Given the description of an element on the screen output the (x, y) to click on. 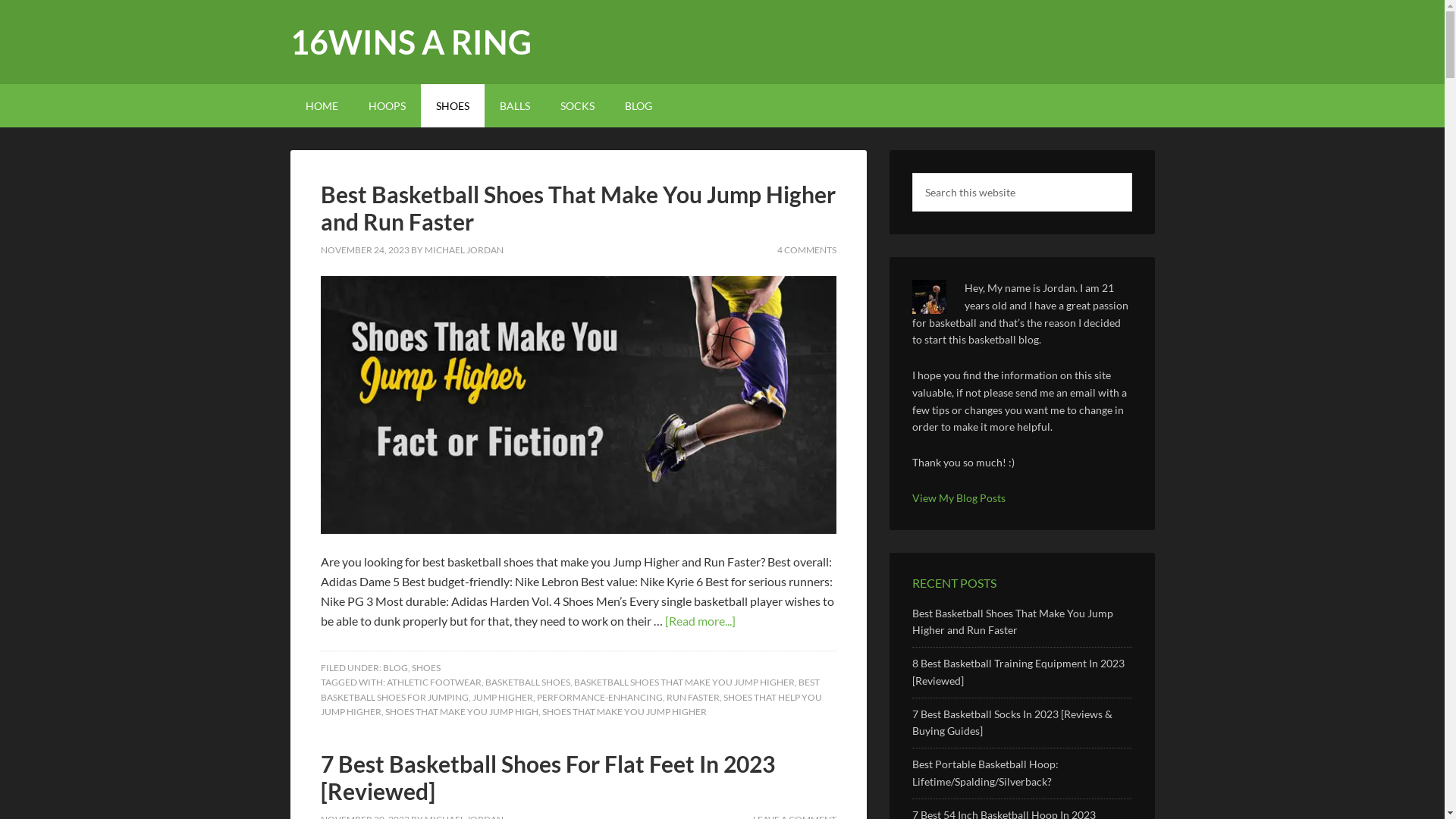
Search Element type: text (1131, 172)
8 Best Basketball Training Equipment In 2023 [Reviewed] Element type: text (1017, 671)
[Read more...] Element type: text (699, 620)
7 Best Basketball Socks In 2023 [Reviews & Buying Guides] Element type: text (1011, 722)
BLOG Element type: text (638, 105)
ATHLETIC FOOTWEAR Element type: text (433, 681)
HOOPS Element type: text (386, 105)
SOCKS Element type: text (576, 105)
PERFORMANCE-ENHANCING Element type: text (599, 696)
MICHAEL JORDAN Element type: text (463, 249)
BASKETBALL SHOES THAT MAKE YOU JUMP HIGHER Element type: text (683, 681)
SHOES THAT HELP YOU JUMP HIGHER Element type: text (570, 704)
SHOES Element type: text (451, 105)
BASKETBALL SHOES Element type: text (527, 681)
RUN FASTER Element type: text (691, 696)
JUMP HIGHER Element type: text (501, 696)
Best Portable Basketball Hoop: Lifetime/Spalding/Silverback? Element type: text (984, 772)
HOME Element type: text (320, 105)
4 COMMENTS Element type: text (805, 249)
SHOES THAT MAKE YOU JUMP HIGH Element type: text (461, 711)
BEST BASKETBALL SHOES FOR JUMPING Element type: text (569, 689)
7 Best Basketball Shoes For Flat Feet In 2023 [Reviewed] Element type: text (547, 776)
View My Blog Posts Element type: text (957, 497)
BALLS Element type: text (513, 105)
BLOG Element type: text (394, 667)
SHOES THAT MAKE YOU JUMP HIGHER Element type: text (623, 711)
SHOES Element type: text (425, 667)
16WINS A RING Element type: text (409, 41)
